Given the description of an element on the screen output the (x, y) to click on. 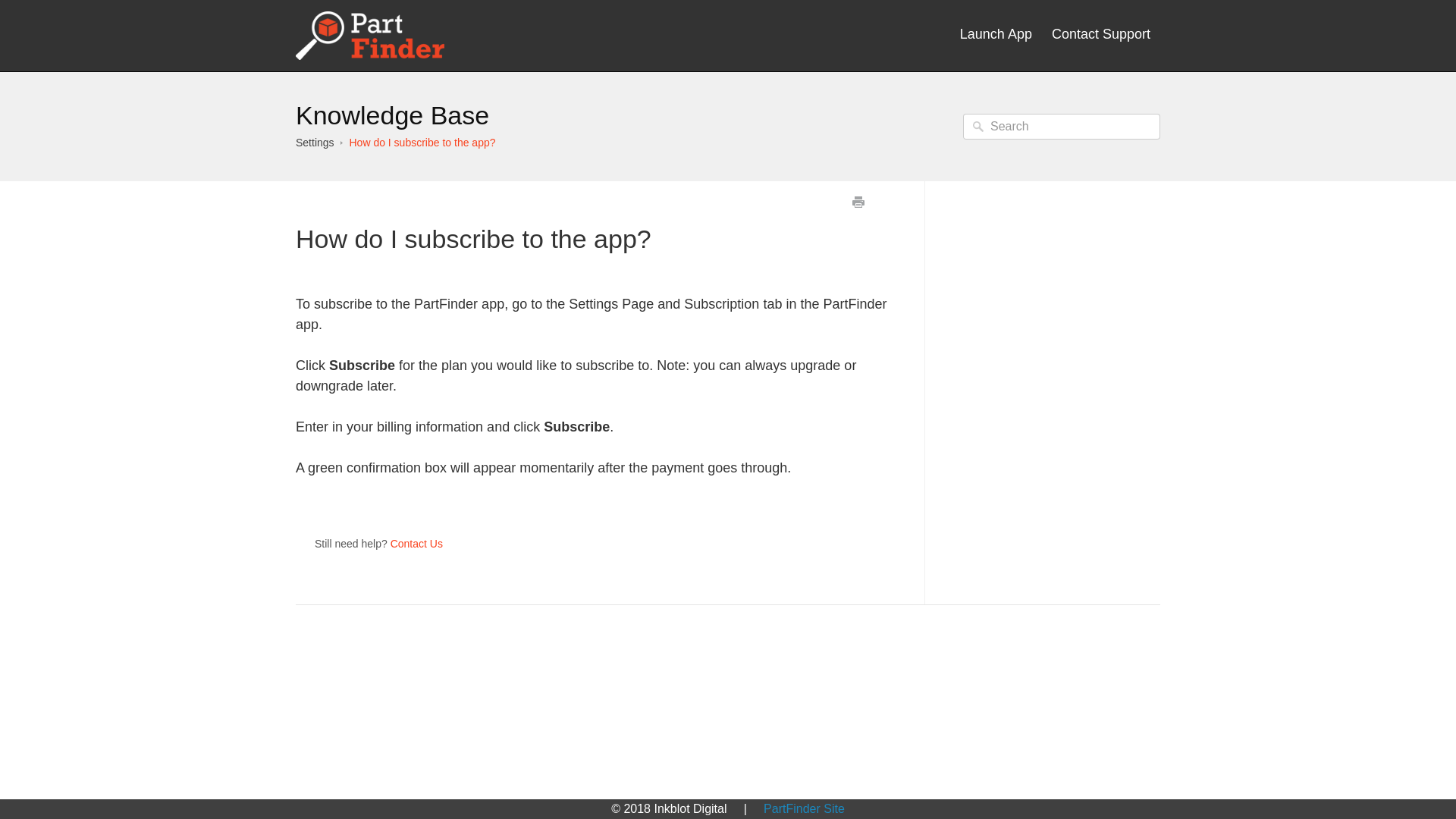
Contact Us (416, 543)
Launch App (995, 34)
Knowledge Base (392, 114)
Settings (314, 142)
PartFinder Site (803, 808)
Print this article (857, 201)
How do I subscribe to the app? (422, 142)
Contact Support (1101, 34)
Print (857, 201)
